Given the description of an element on the screen output the (x, y) to click on. 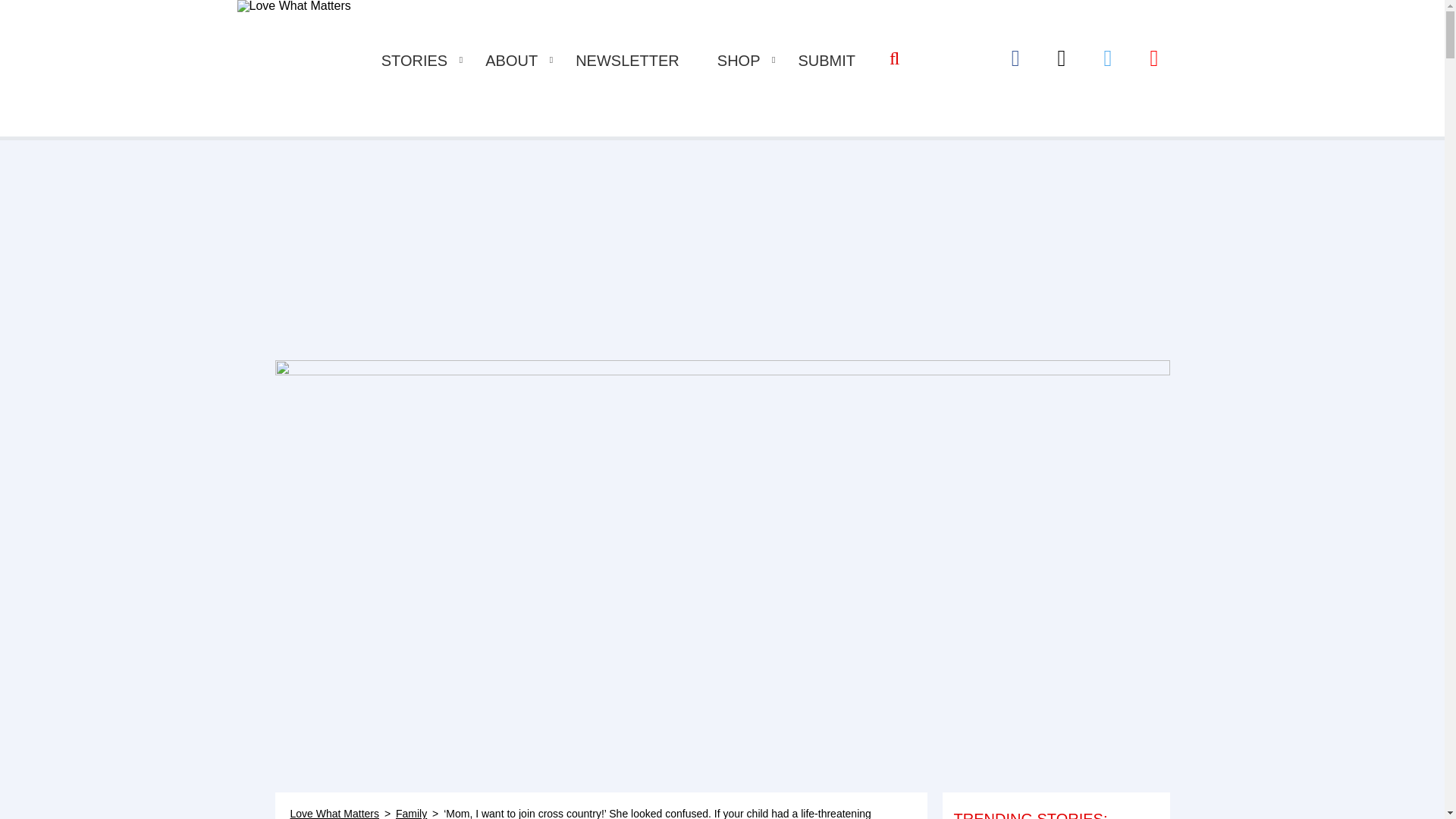
ABOUT (511, 60)
SHOP (738, 60)
STORIES (414, 60)
NEWSLETTER (627, 60)
SUBMIT (826, 60)
